Given the description of an element on the screen output the (x, y) to click on. 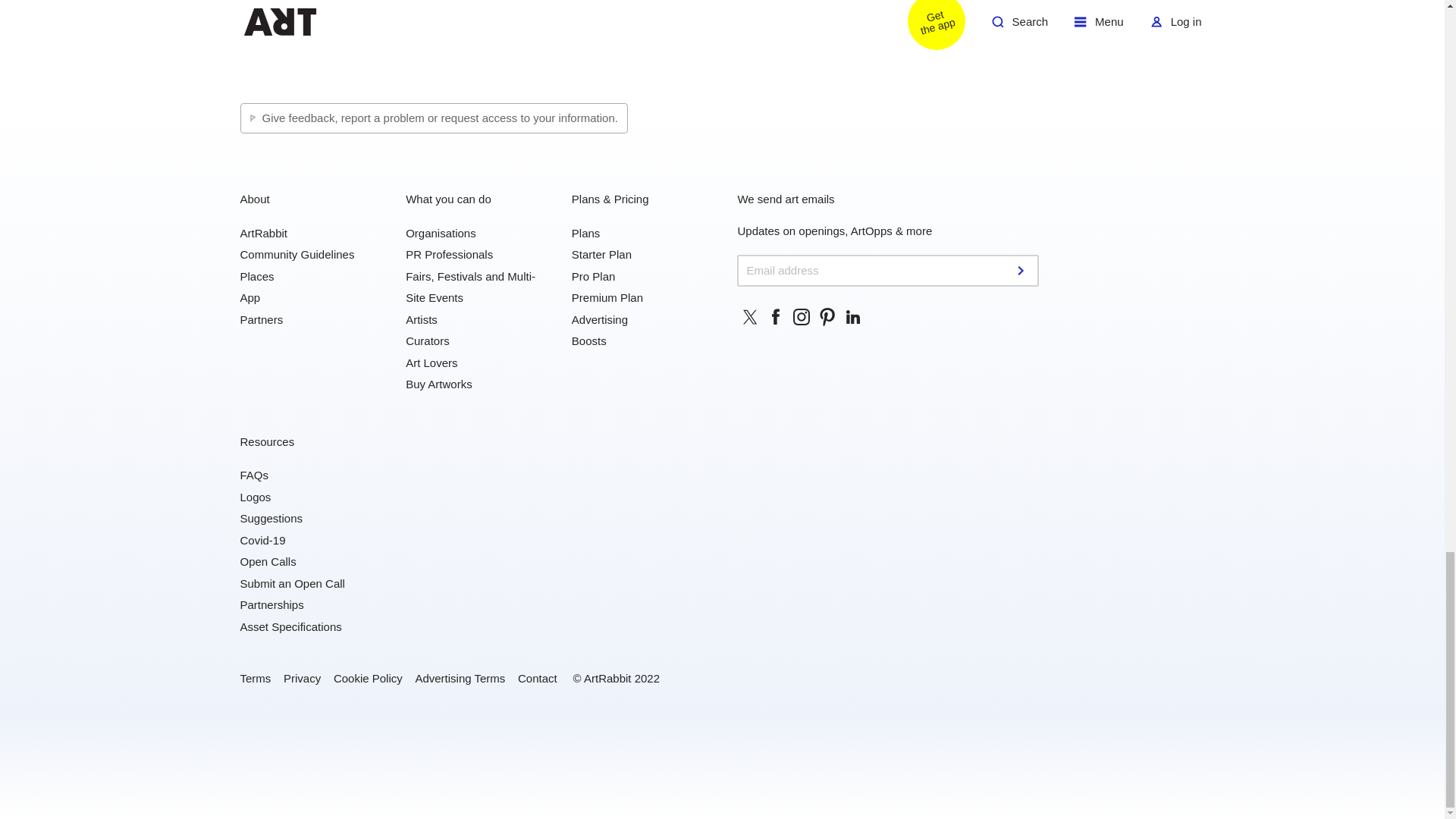
submit (1021, 270)
